Given the description of an element on the screen output the (x, y) to click on. 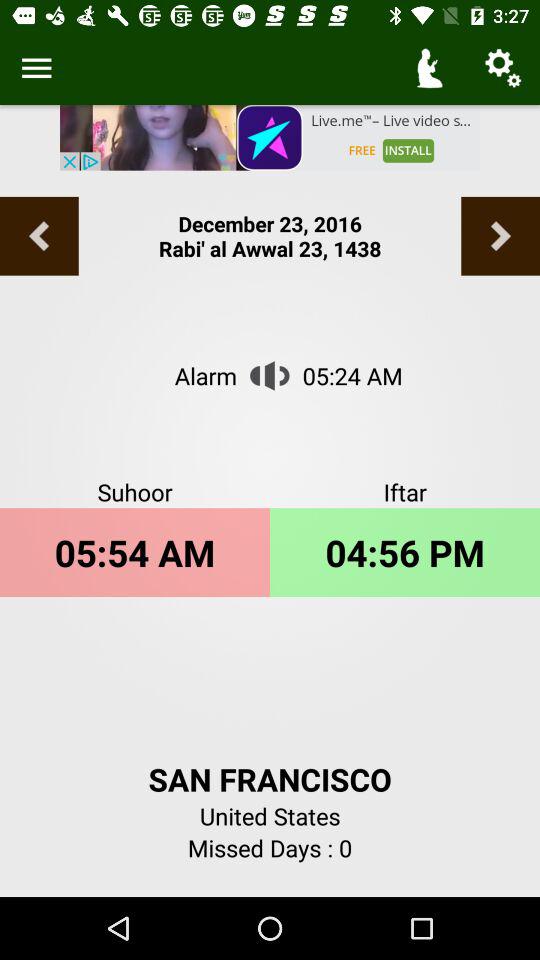
get more information (36, 68)
